Given the description of an element on the screen output the (x, y) to click on. 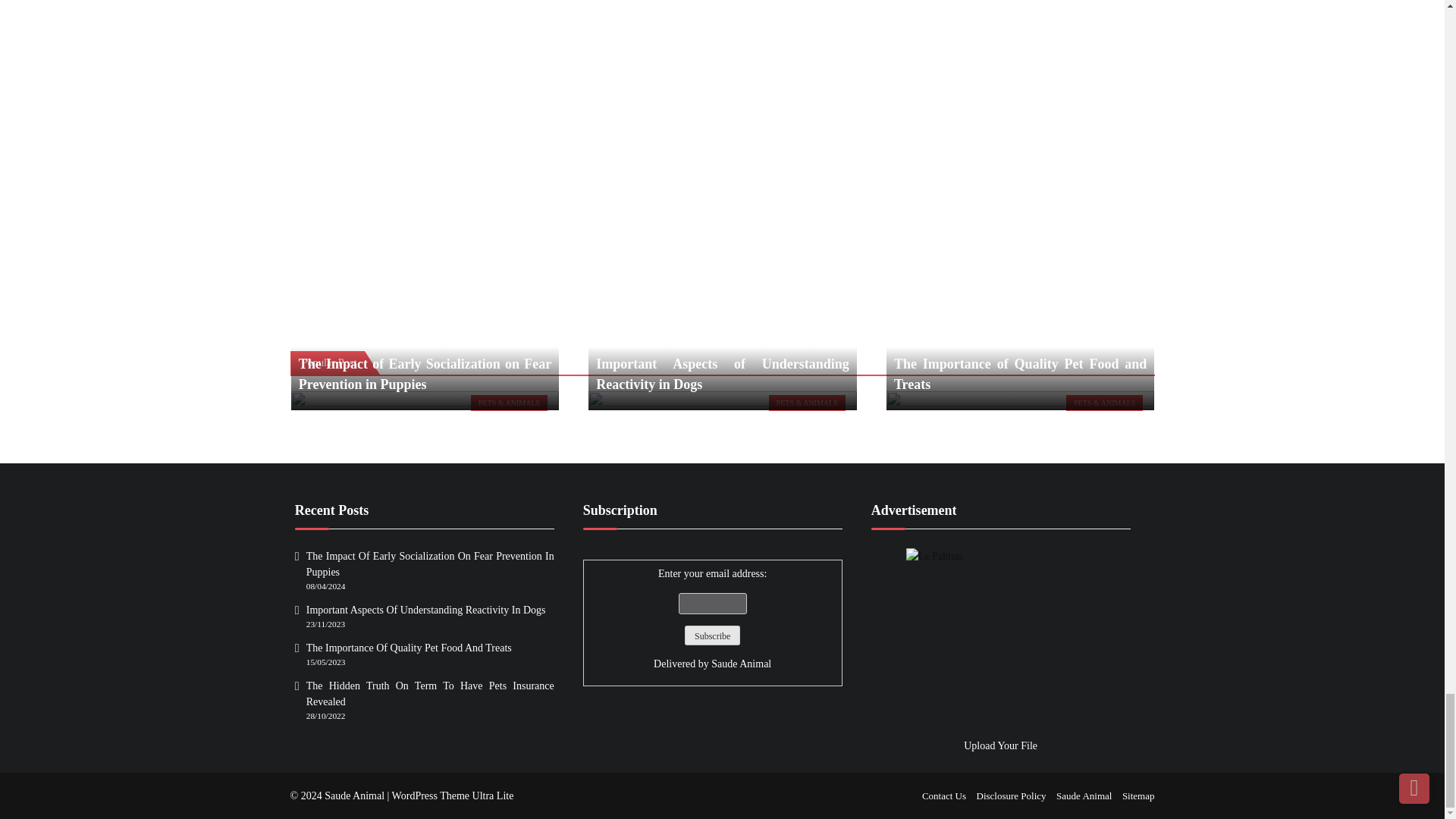
Subscribe (711, 635)
